Given the description of an element on the screen output the (x, y) to click on. 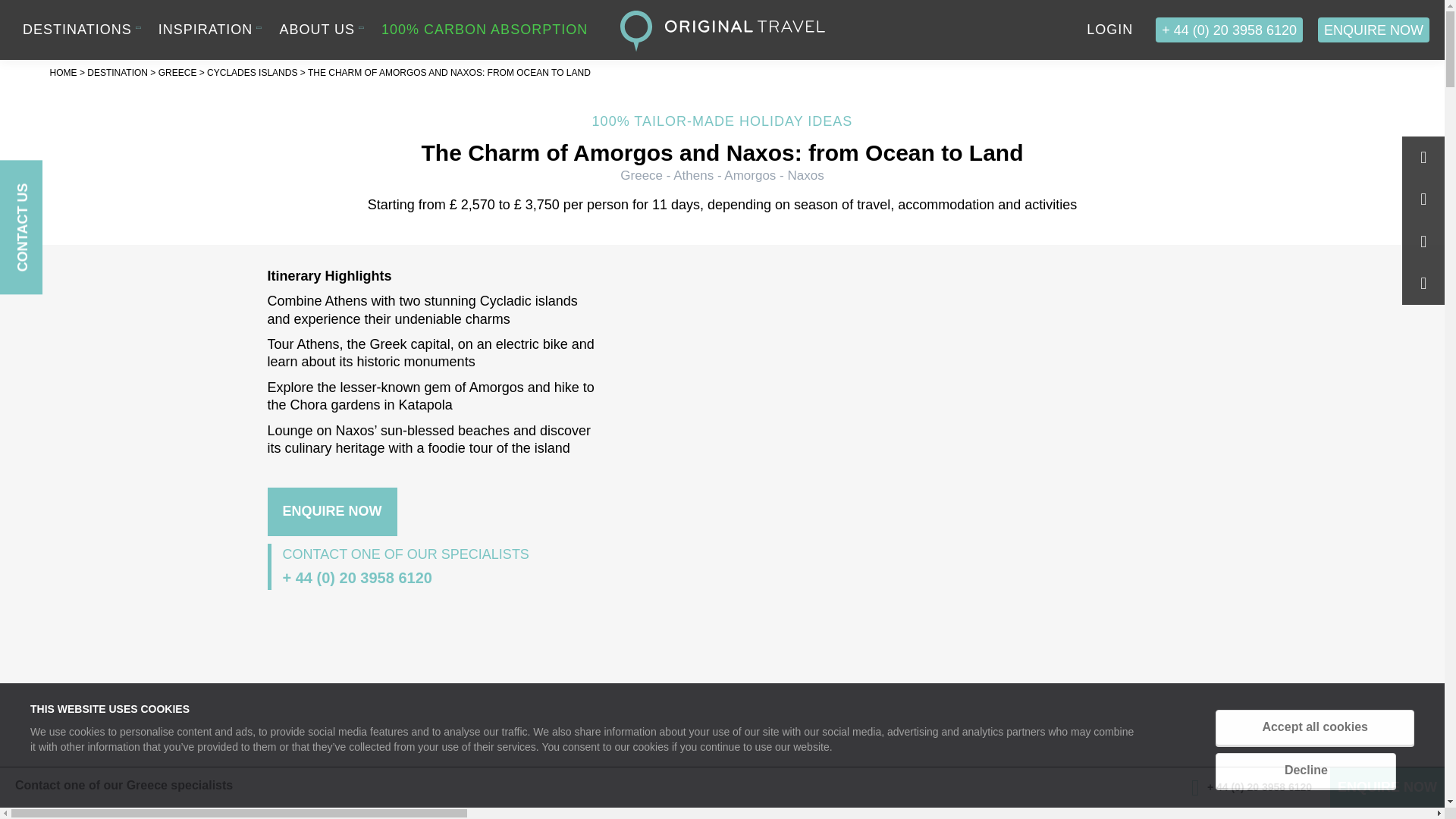
DESTINATIONS (77, 29)
Decline (1305, 770)
Accept all cookies (1314, 727)
